Given the description of an element on the screen output the (x, y) to click on. 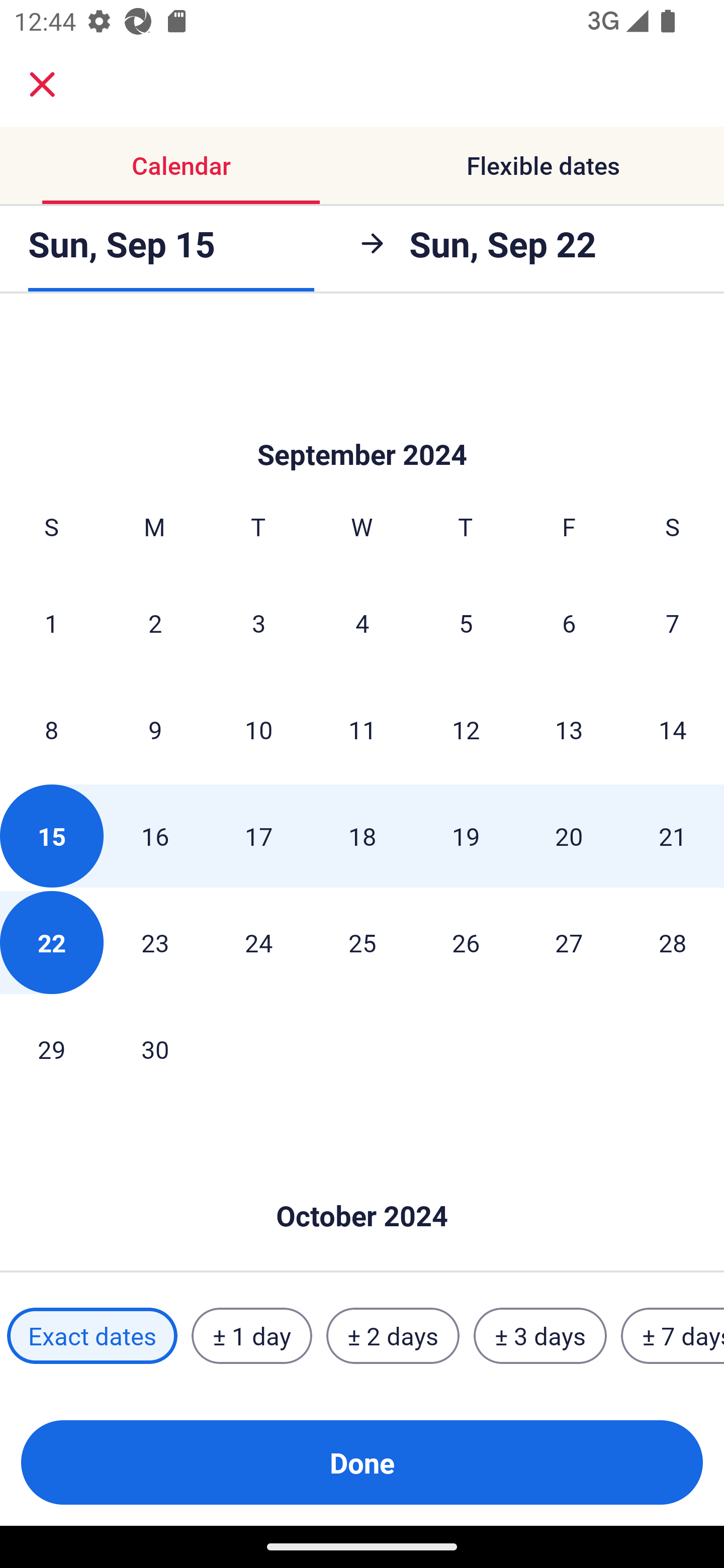
close. (42, 84)
Flexible dates (542, 164)
Skip to Done (362, 424)
1 Sunday, September 1, 2024 (51, 622)
2 Monday, September 2, 2024 (155, 622)
3 Tuesday, September 3, 2024 (258, 622)
4 Wednesday, September 4, 2024 (362, 622)
5 Thursday, September 5, 2024 (465, 622)
6 Friday, September 6, 2024 (569, 622)
7 Saturday, September 7, 2024 (672, 622)
8 Sunday, September 8, 2024 (51, 728)
9 Monday, September 9, 2024 (155, 728)
10 Tuesday, September 10, 2024 (258, 728)
11 Wednesday, September 11, 2024 (362, 728)
12 Thursday, September 12, 2024 (465, 728)
13 Friday, September 13, 2024 (569, 728)
14 Saturday, September 14, 2024 (672, 728)
23 Monday, September 23, 2024 (155, 942)
24 Tuesday, September 24, 2024 (258, 942)
25 Wednesday, September 25, 2024 (362, 942)
26 Thursday, September 26, 2024 (465, 942)
27 Friday, September 27, 2024 (569, 942)
28 Saturday, September 28, 2024 (672, 942)
29 Sunday, September 29, 2024 (51, 1048)
30 Monday, September 30, 2024 (155, 1048)
Skip to Done (362, 1185)
Exact dates (92, 1335)
± 1 day (251, 1335)
± 2 days (392, 1335)
± 3 days (539, 1335)
± 7 days (672, 1335)
Done (361, 1462)
